Given the description of an element on the screen output the (x, y) to click on. 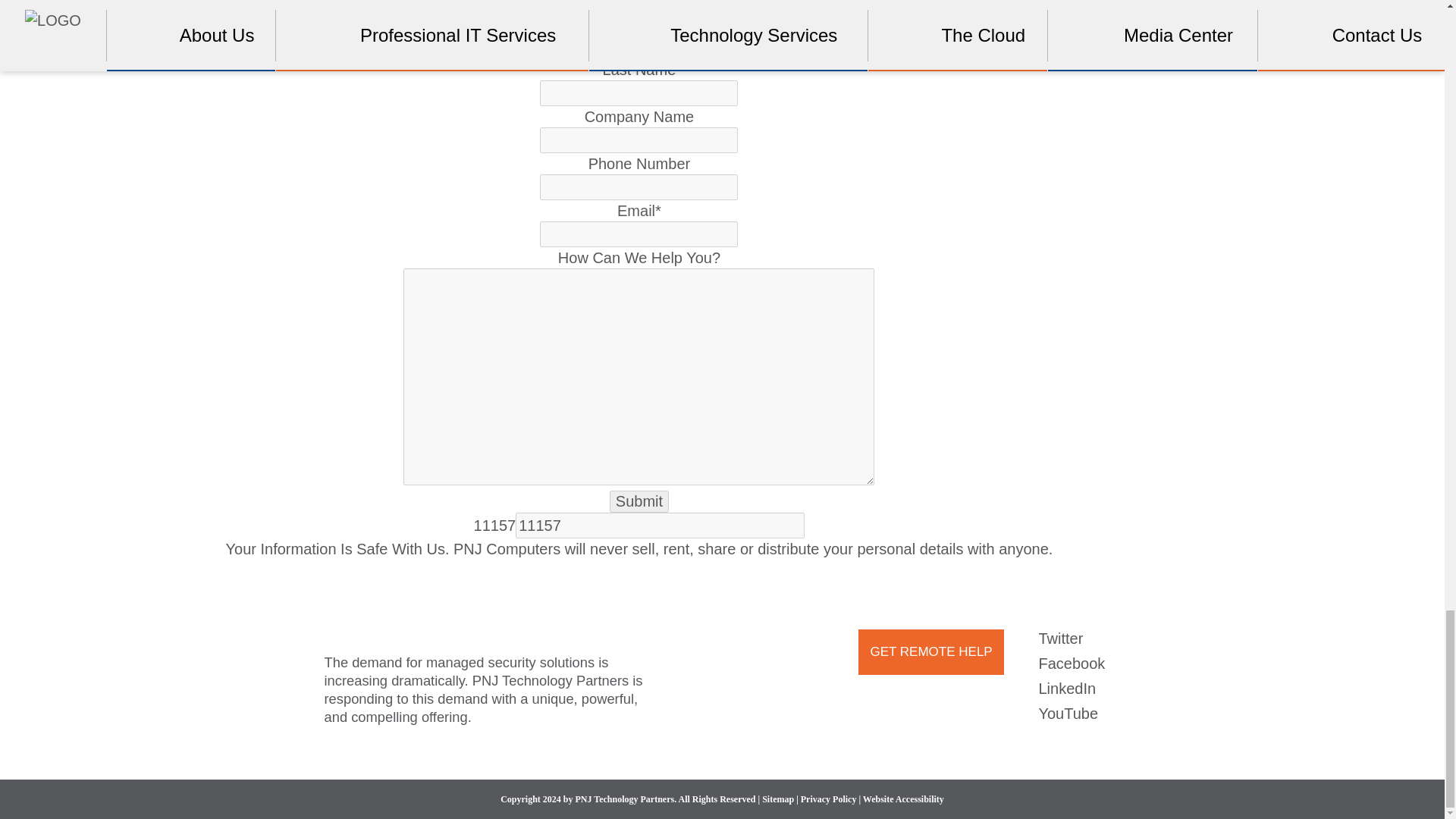
Submit (639, 501)
11157 (660, 525)
